Given the description of an element on the screen output the (x, y) to click on. 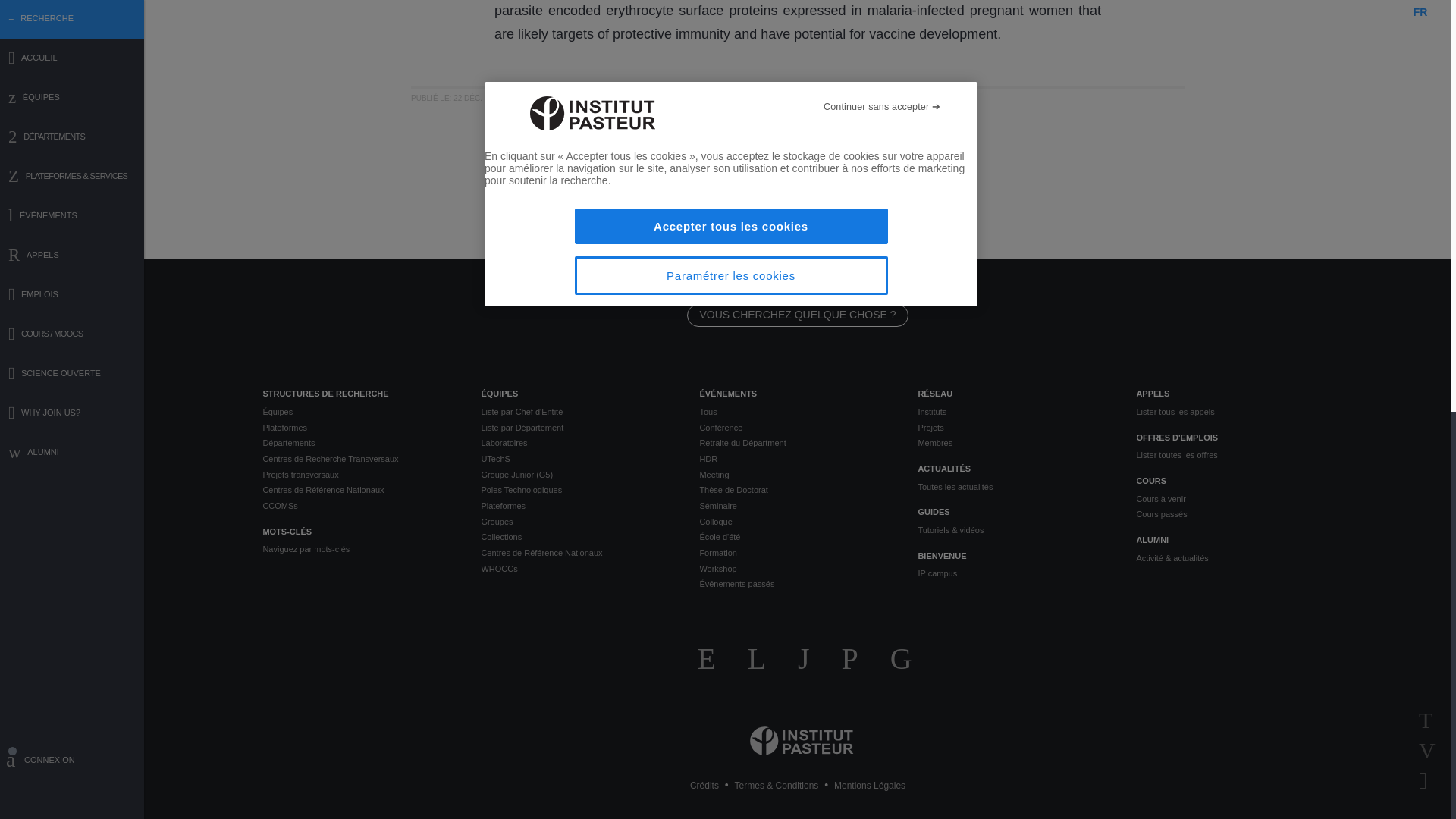
Plateformes (360, 427)
